Given the description of an element on the screen output the (x, y) to click on. 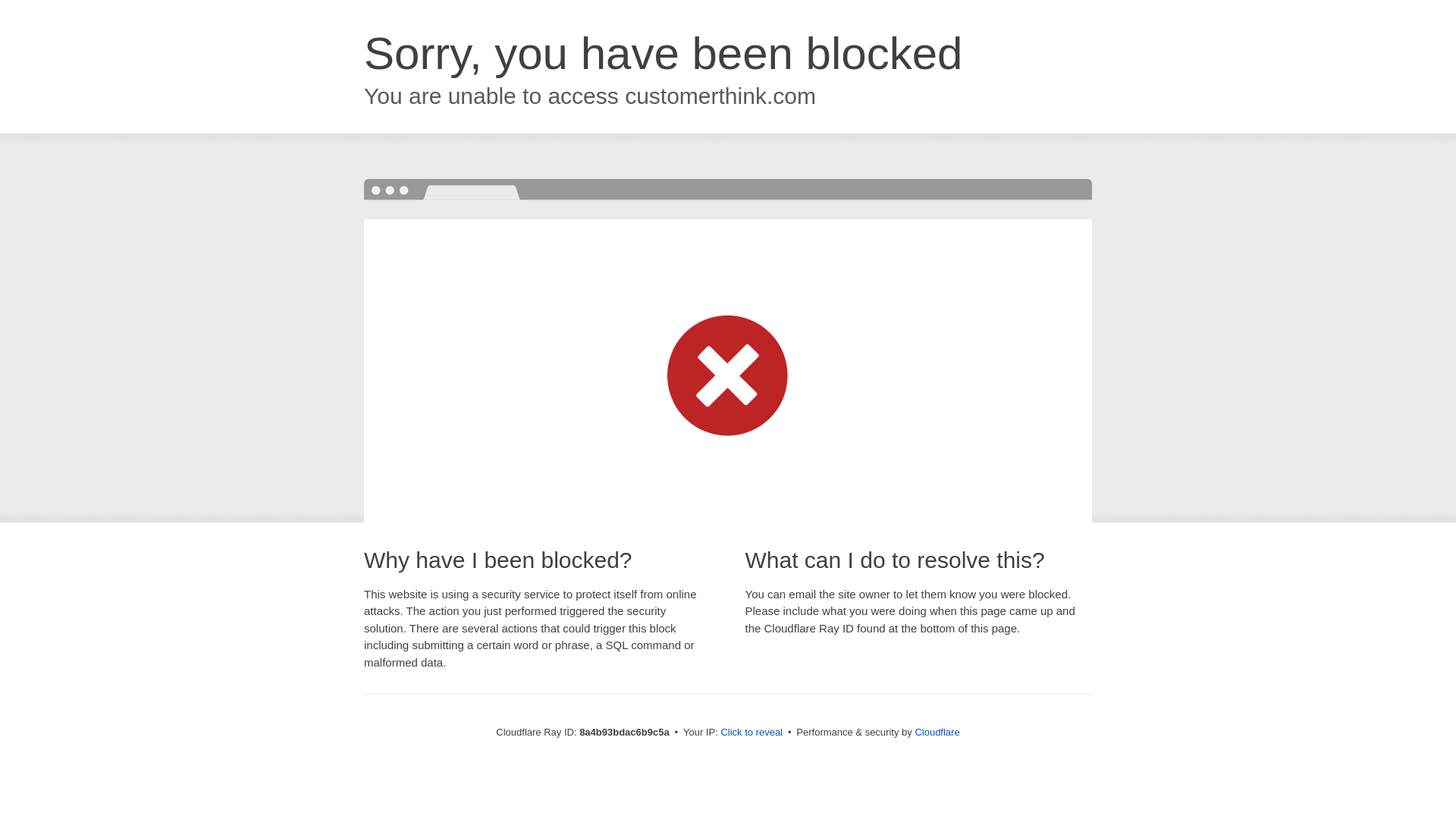
Click to reveal (751, 732)
Cloudflare (936, 731)
